Given the description of an element on the screen output the (x, y) to click on. 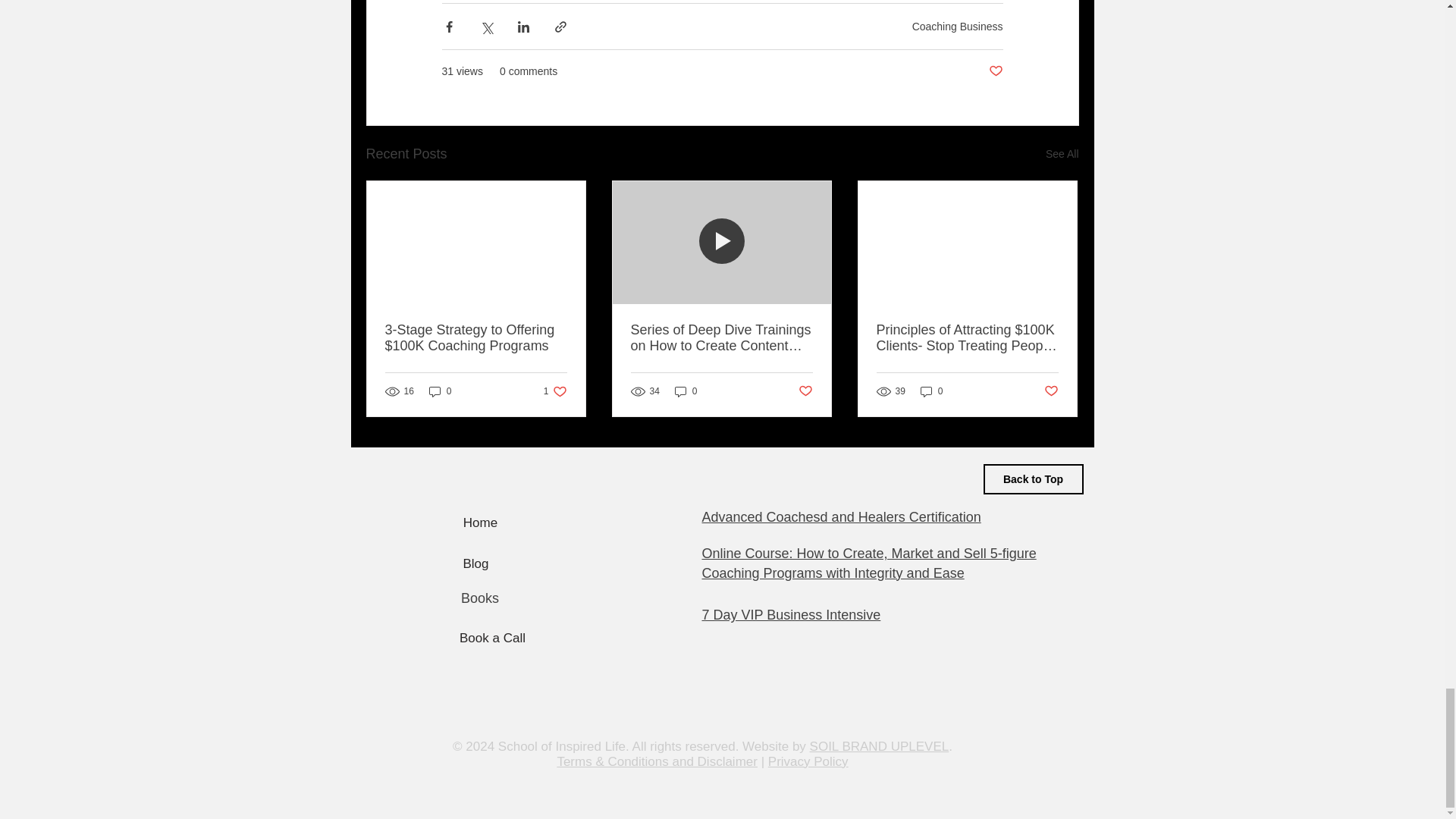
Back to Top (1032, 479)
0 (440, 391)
Post not marked as liked (995, 71)
0 (685, 391)
Coaching Business (957, 26)
Post not marked as liked (804, 391)
See All (1061, 154)
Post not marked as liked (1050, 391)
Blog (476, 563)
Home (481, 522)
Books (555, 391)
Advanced Coachesd and Healers Certification (480, 598)
Book a Call (841, 516)
